Given the description of an element on the screen output the (x, y) to click on. 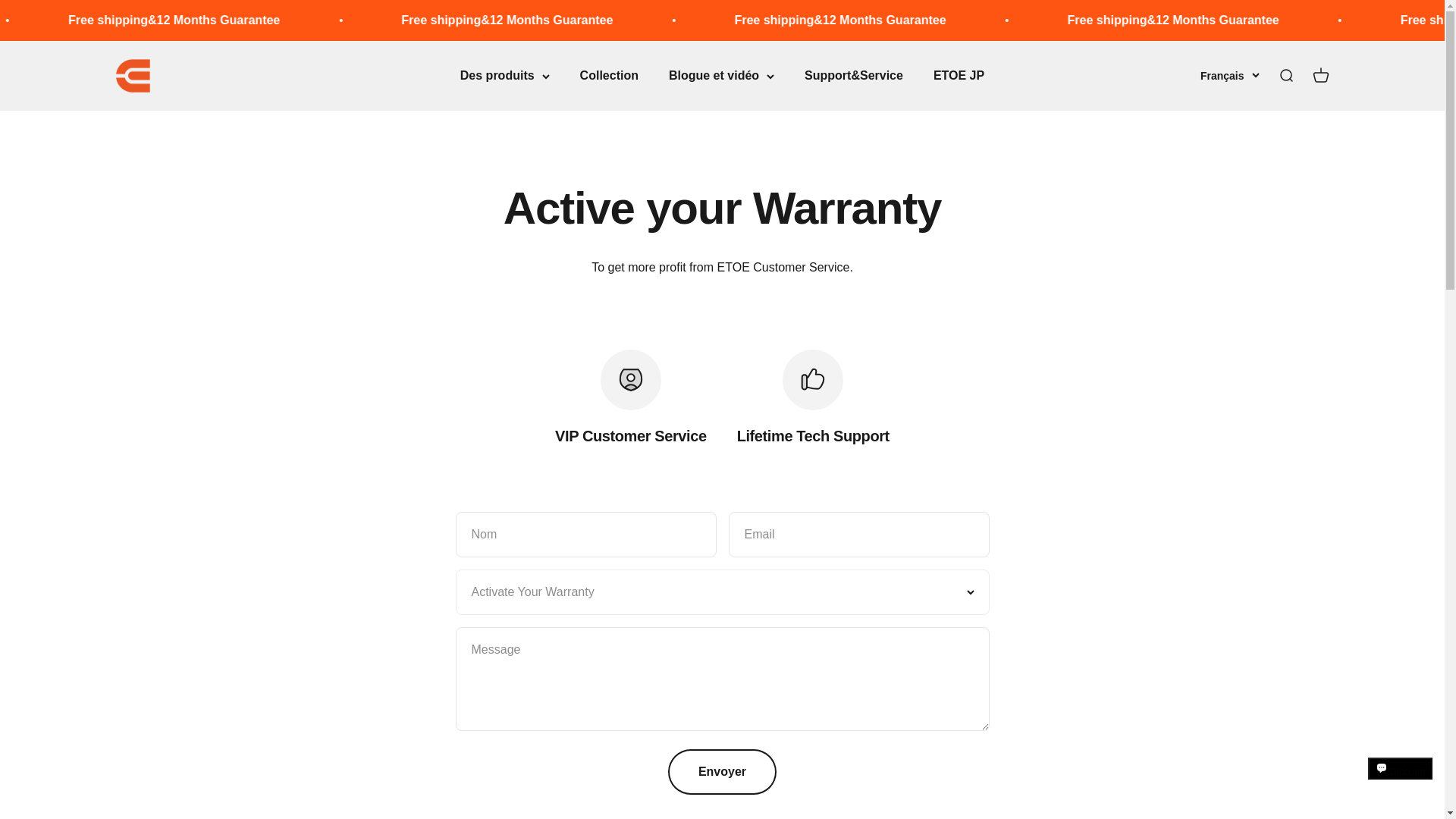
Chat de la boutique en ligne Shopify (1319, 75)
ETOE (1400, 781)
Ouvrir la recherche (132, 75)
ETOE JP (1285, 75)
Collection (958, 74)
